Given the description of an element on the screen output the (x, y) to click on. 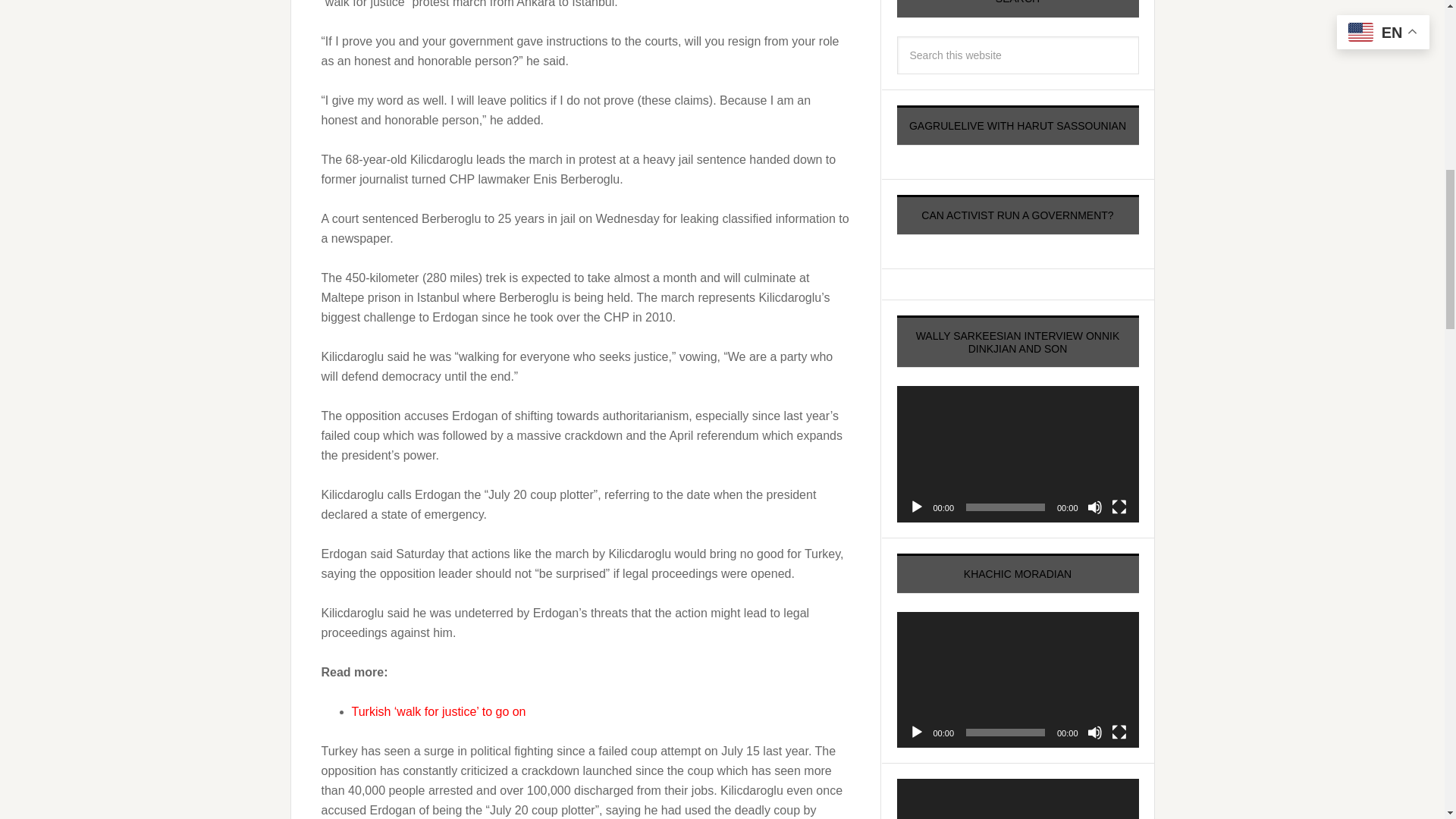
Mute (1094, 732)
Play (915, 507)
Play (915, 732)
Fullscreen (1119, 732)
Fullscreen (1119, 507)
Mute (1094, 507)
